Given the description of an element on the screen output the (x, y) to click on. 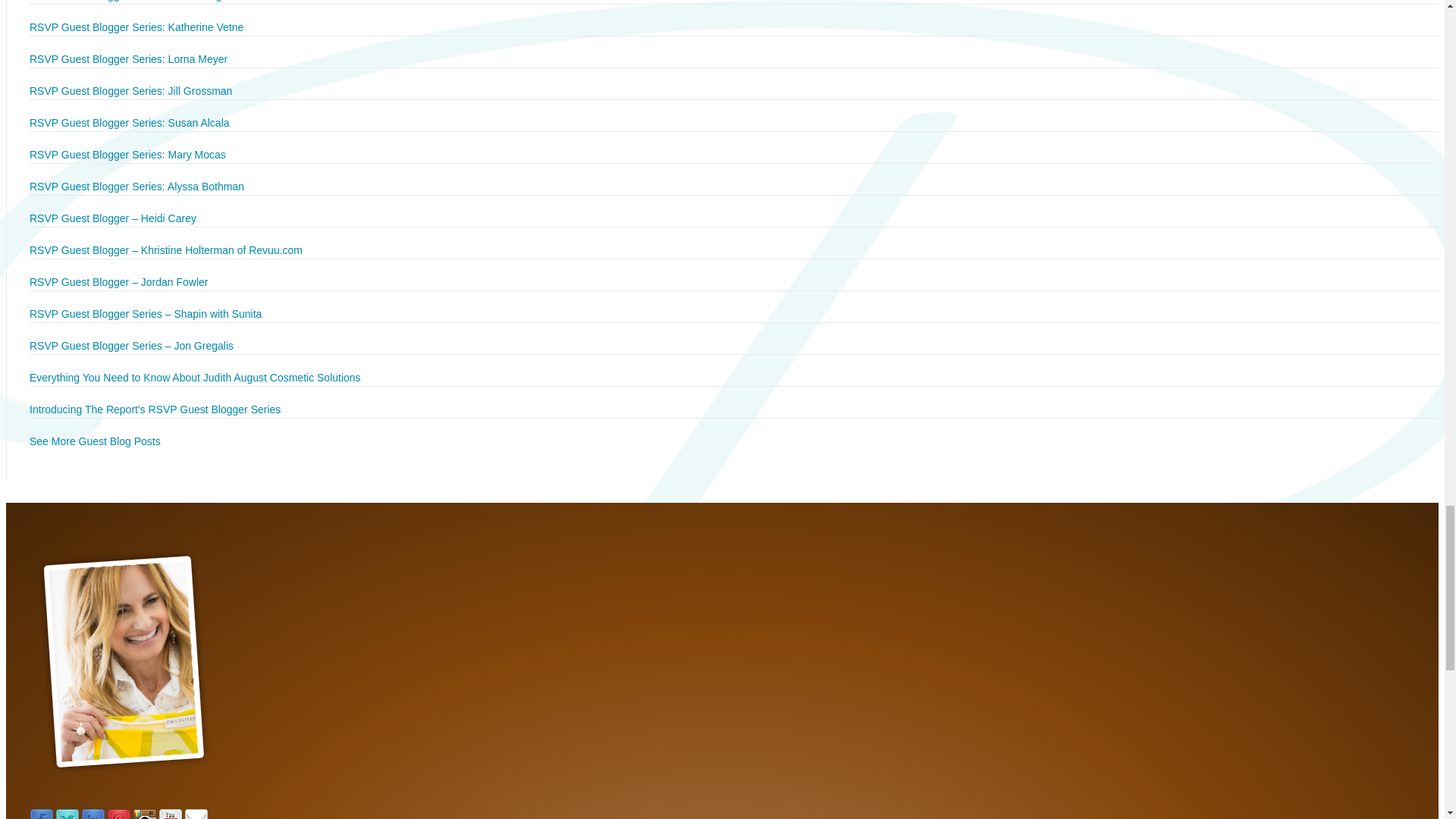
LinkedIn (92, 814)
Twitter (67, 814)
Contact (196, 814)
Pinterest (118, 814)
Facebook (41, 814)
Instagram (144, 814)
